Given the description of an element on the screen output the (x, y) to click on. 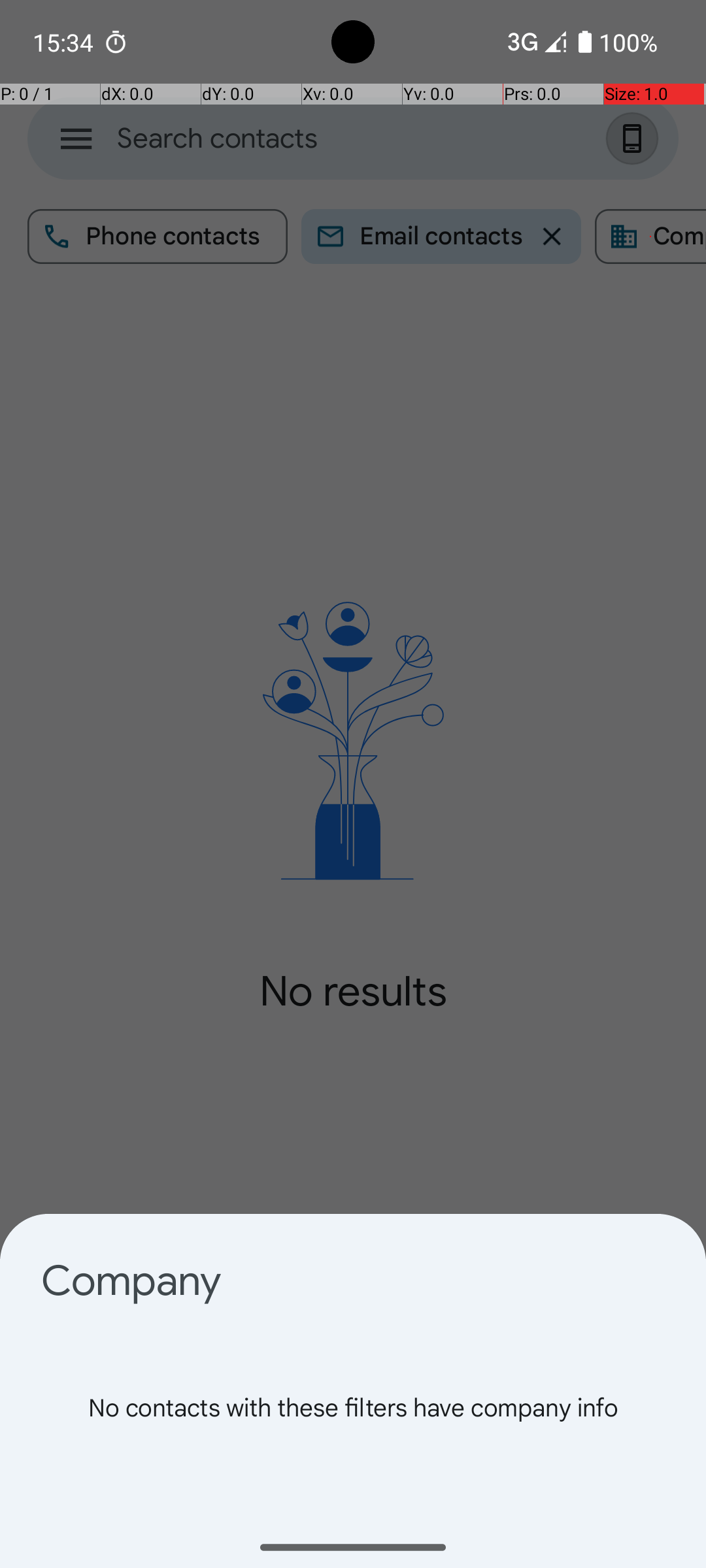
Company Element type: android.widget.TextView (352, 1281)
No contacts with these filters have company info Element type: android.widget.TextView (352, 1437)
